Given the description of an element on the screen output the (x, y) to click on. 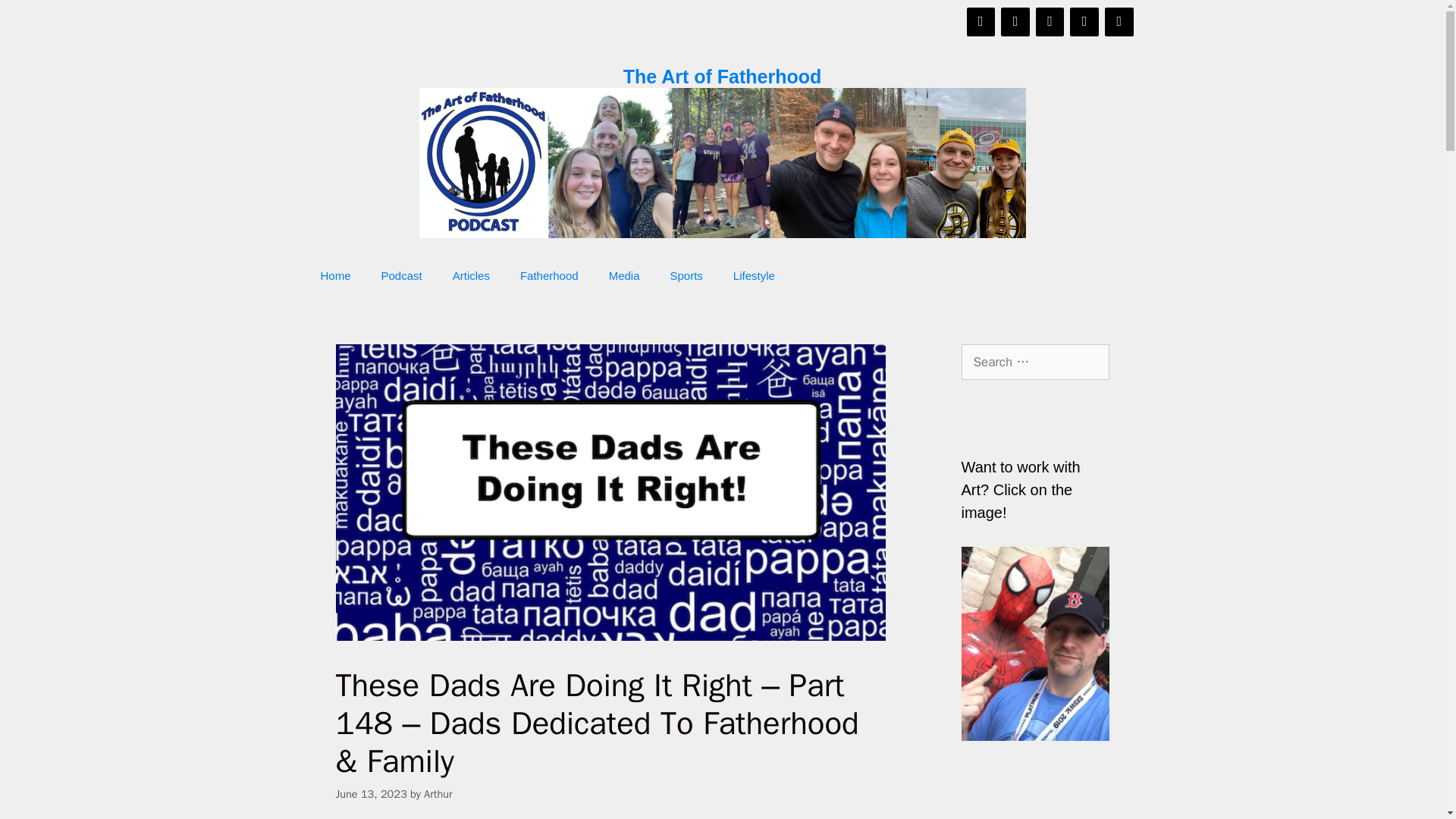
Podcast (402, 275)
Arthur (437, 793)
Media (624, 275)
Instagram (1049, 21)
Twitter (1015, 21)
The Art of Fatherhood (722, 76)
Fatherhood (549, 275)
Search for: (1034, 361)
Home (334, 275)
Facebook (980, 21)
Sports (686, 275)
Lifestyle (753, 275)
iTunes (1119, 21)
View all posts by Arthur (437, 793)
Articles (471, 275)
